Given the description of an element on the screen output the (x, y) to click on. 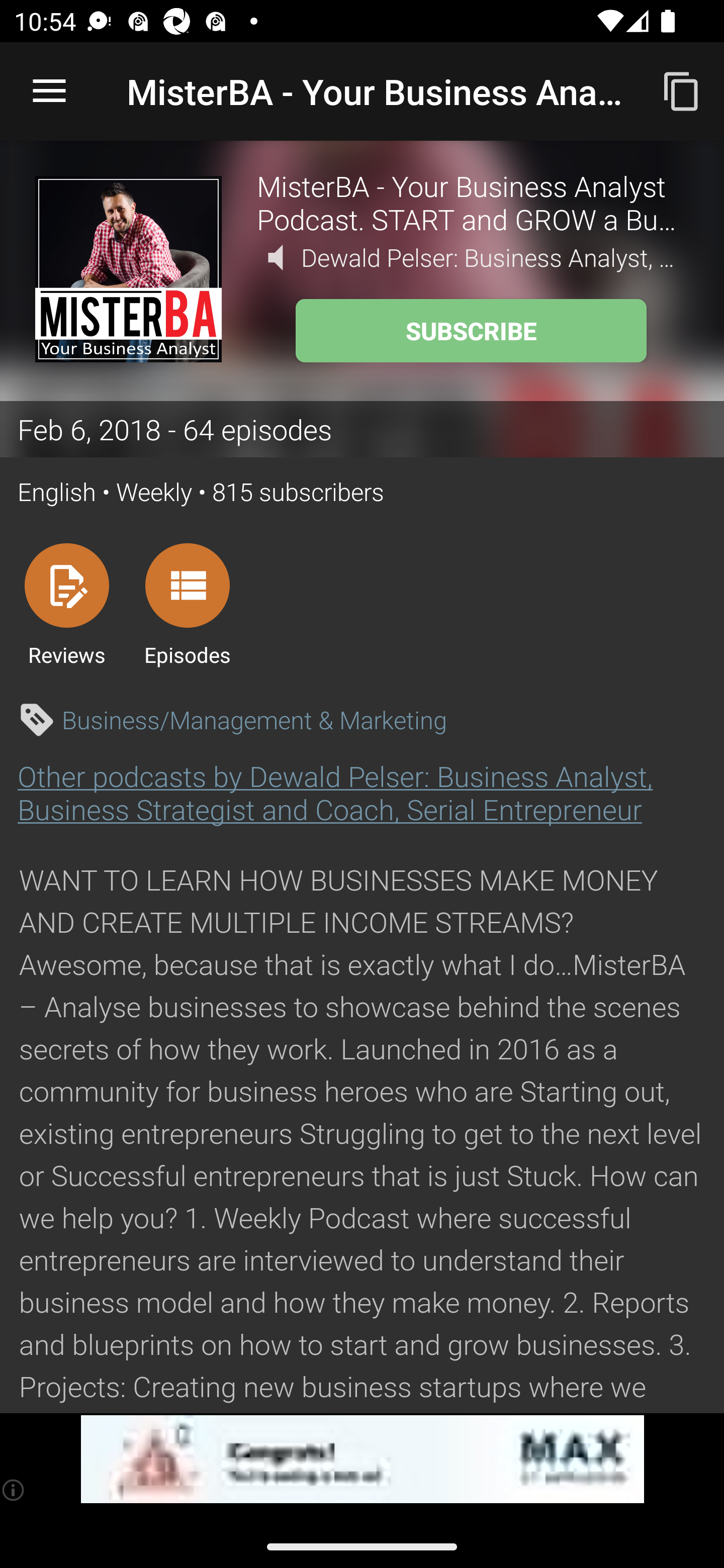
Open navigation sidebar (49, 91)
Copy feed url to clipboard (681, 90)
SUBSCRIBE (470, 330)
Reviews (66, 604)
Episodes (187, 604)
app-monetization (362, 1459)
(i) (14, 1489)
